Given the description of an element on the screen output the (x, y) to click on. 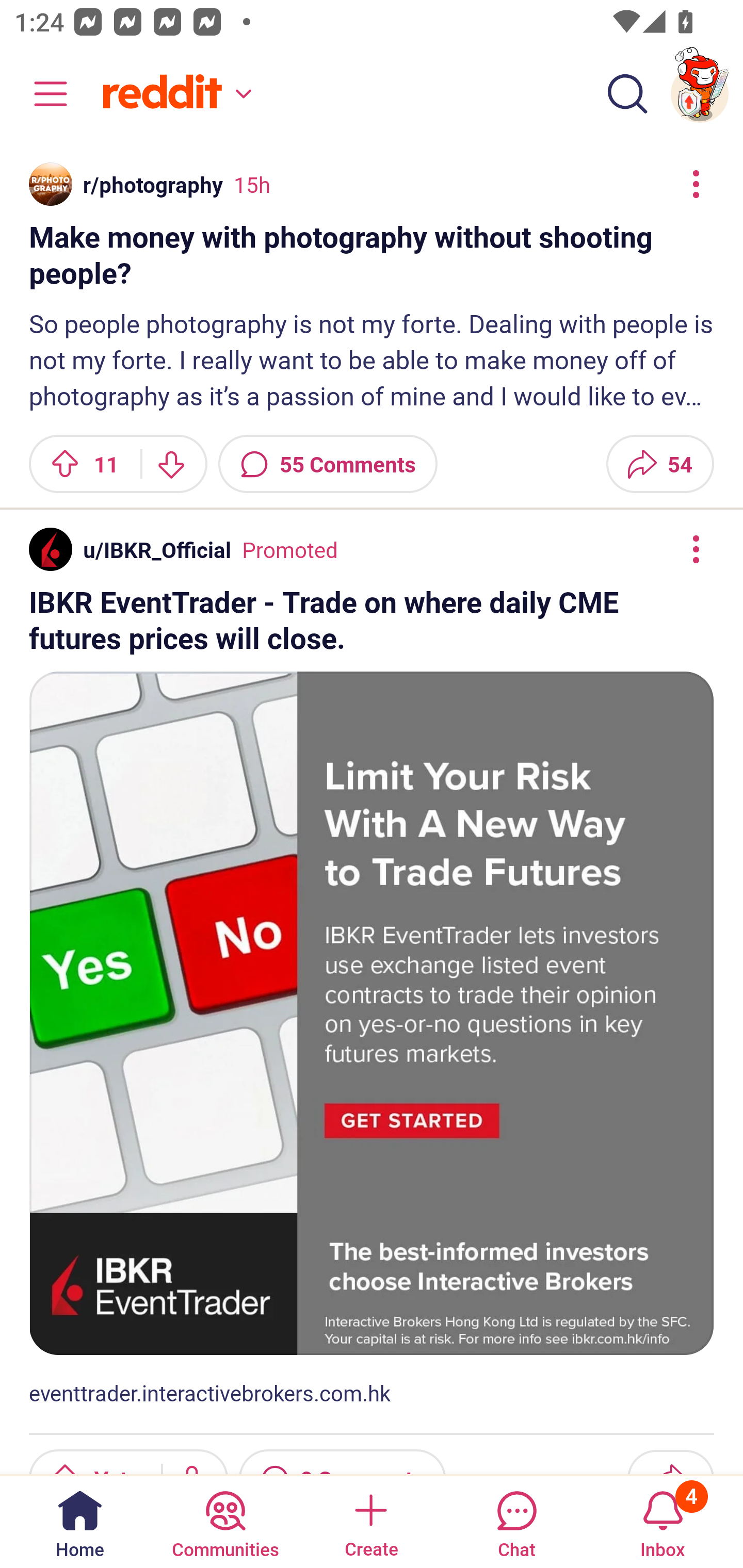
Search (626, 93)
TestAppium002 account (699, 93)
Community menu (41, 94)
Home feed (173, 94)
Home (80, 1520)
Communities (225, 1520)
Create a post Create (370, 1520)
Chat (516, 1520)
Inbox, has 4 notifications 4 Inbox (662, 1520)
